Given the description of an element on the screen output the (x, y) to click on. 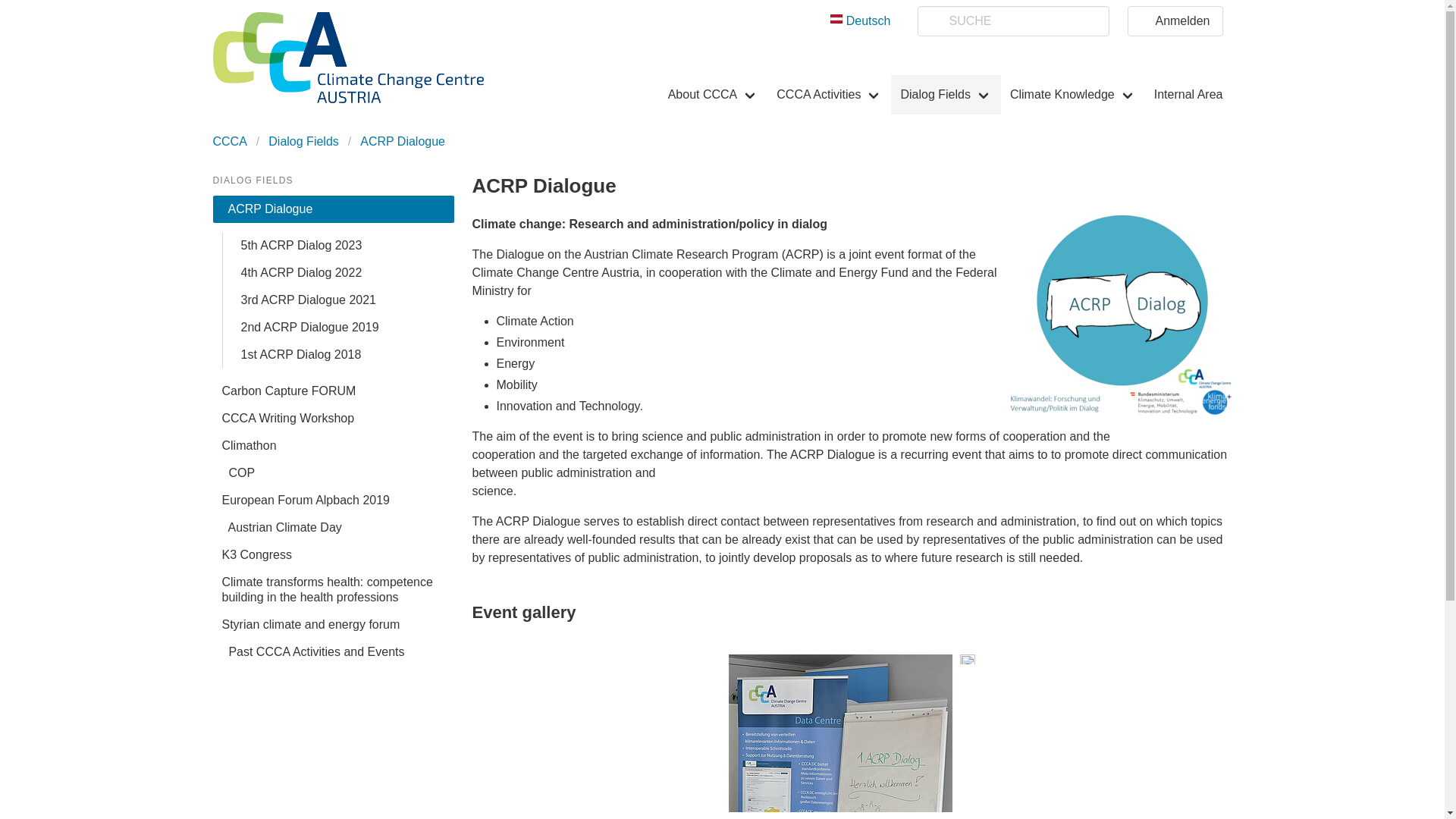
CCCA Activities (829, 94)
Anmelden (1174, 20)
Climate Knowledge (1072, 94)
Dialog Fields (945, 94)
About CCCA (713, 94)
 Deutsch (859, 21)
About CCCA (713, 94)
CCCA Activities (829, 94)
Dialog Fields (945, 94)
